Given the description of an element on the screen output the (x, y) to click on. 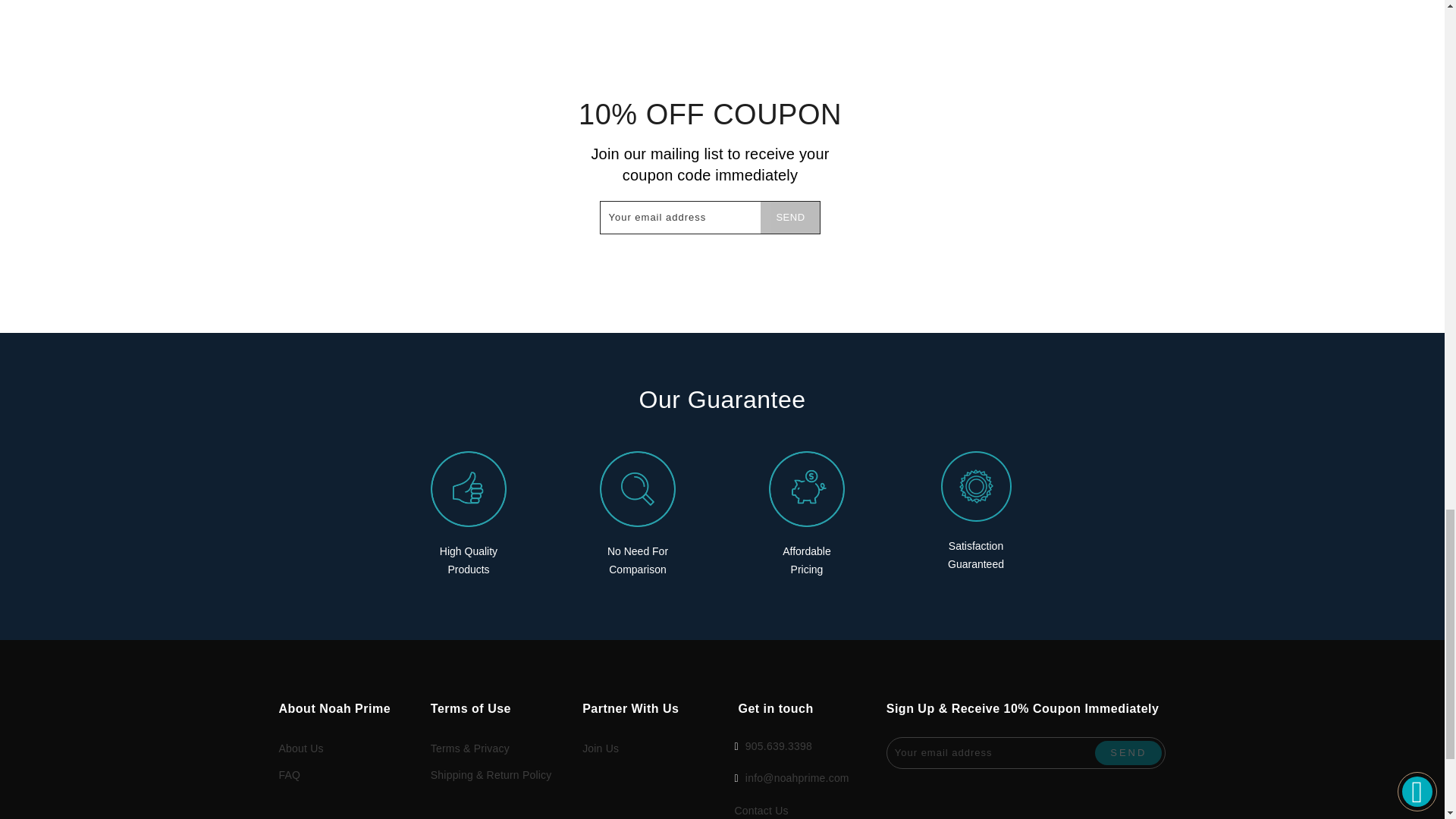
Send (1127, 752)
Send (789, 217)
